Given the description of an element on the screen output the (x, y) to click on. 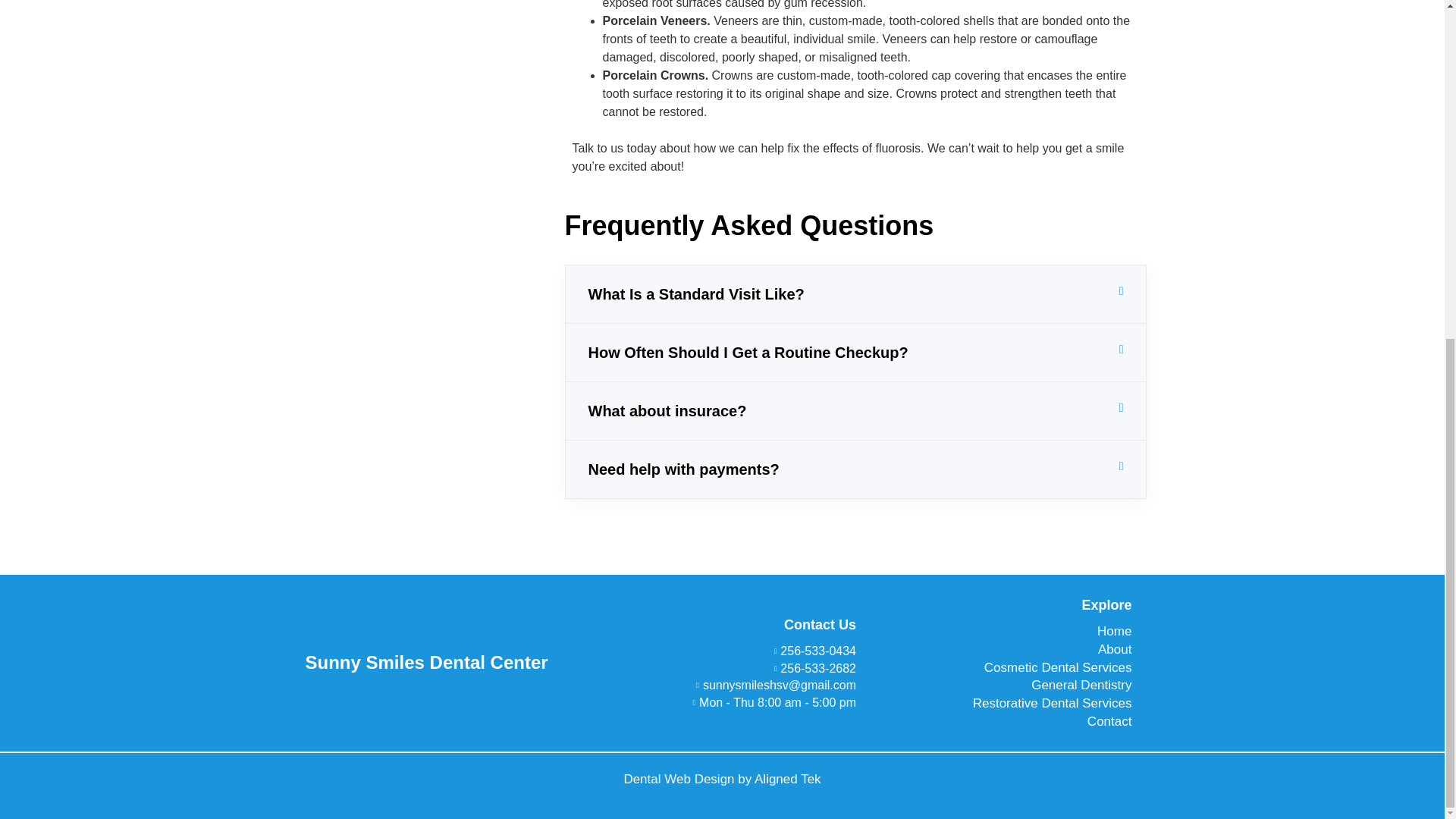
Need help with payments? (683, 469)
256-533-2682 (745, 668)
About (1000, 649)
Aligned Tek (787, 779)
256-533-0434 (745, 651)
Home (1000, 631)
Cosmetic Dental Services (1000, 667)
What Is a Standard Visit Like? (696, 293)
Contact (1000, 721)
How Often Should I Get a Routine Checkup? (748, 352)
